Given the description of an element on the screen output the (x, y) to click on. 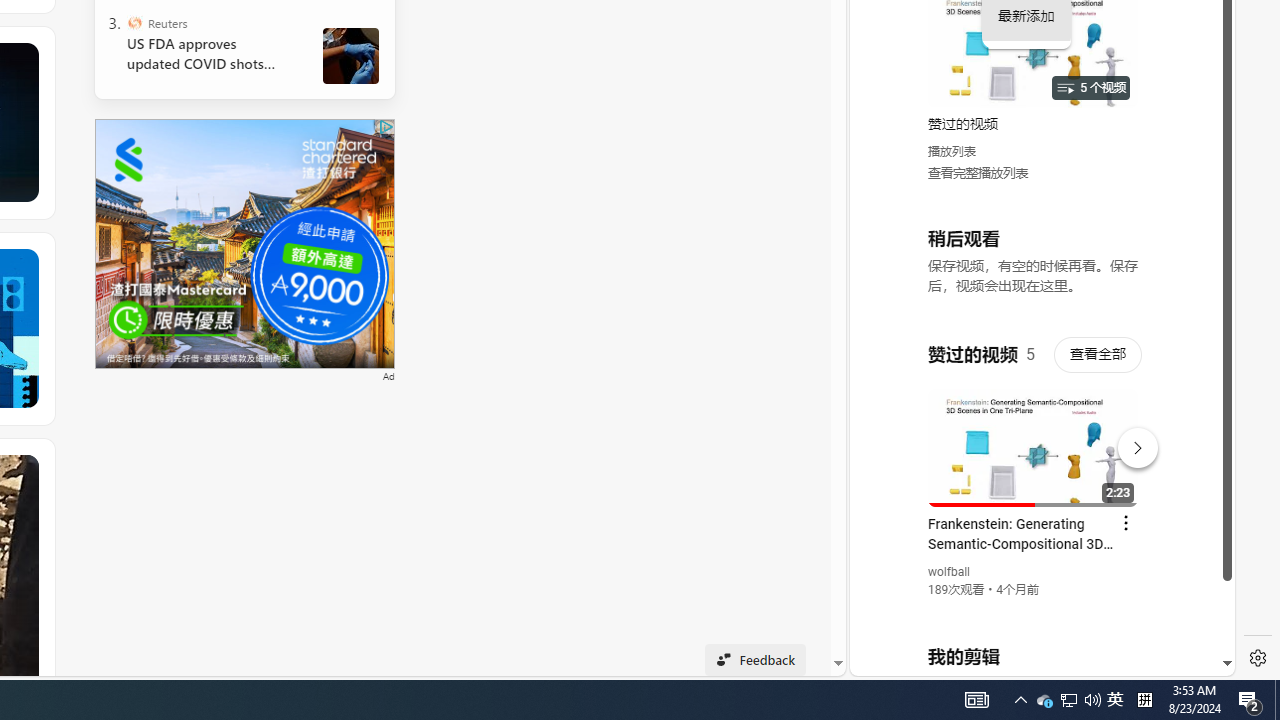
Actions for this site (1131, 443)
Class: qc-adchoices-link top-right  (385, 125)
Class: qc-adchoices-icon (386, 126)
Reuters (134, 22)
